Given the description of an element on the screen output the (x, y) to click on. 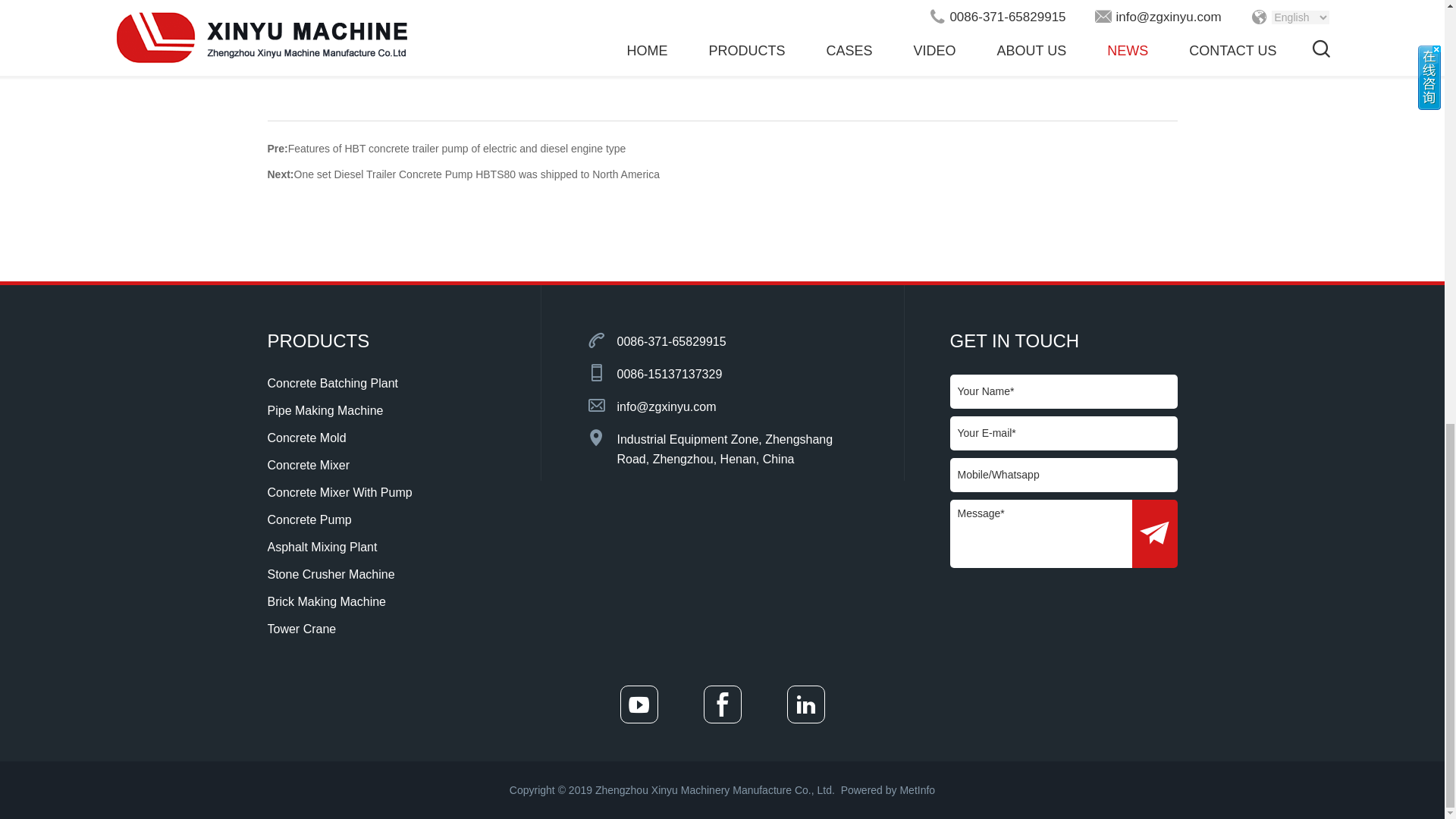
Stone Crusher Machine (330, 574)
Concrete Mixer (307, 464)
Concrete Batching Plant (331, 382)
Brick Making Machine (325, 601)
Concrete Mold (306, 437)
Concrete Mixer With Pump (339, 492)
Concrete Pump (308, 519)
Asphalt Mixing Plant (321, 546)
